Given the description of an element on the screen output the (x, y) to click on. 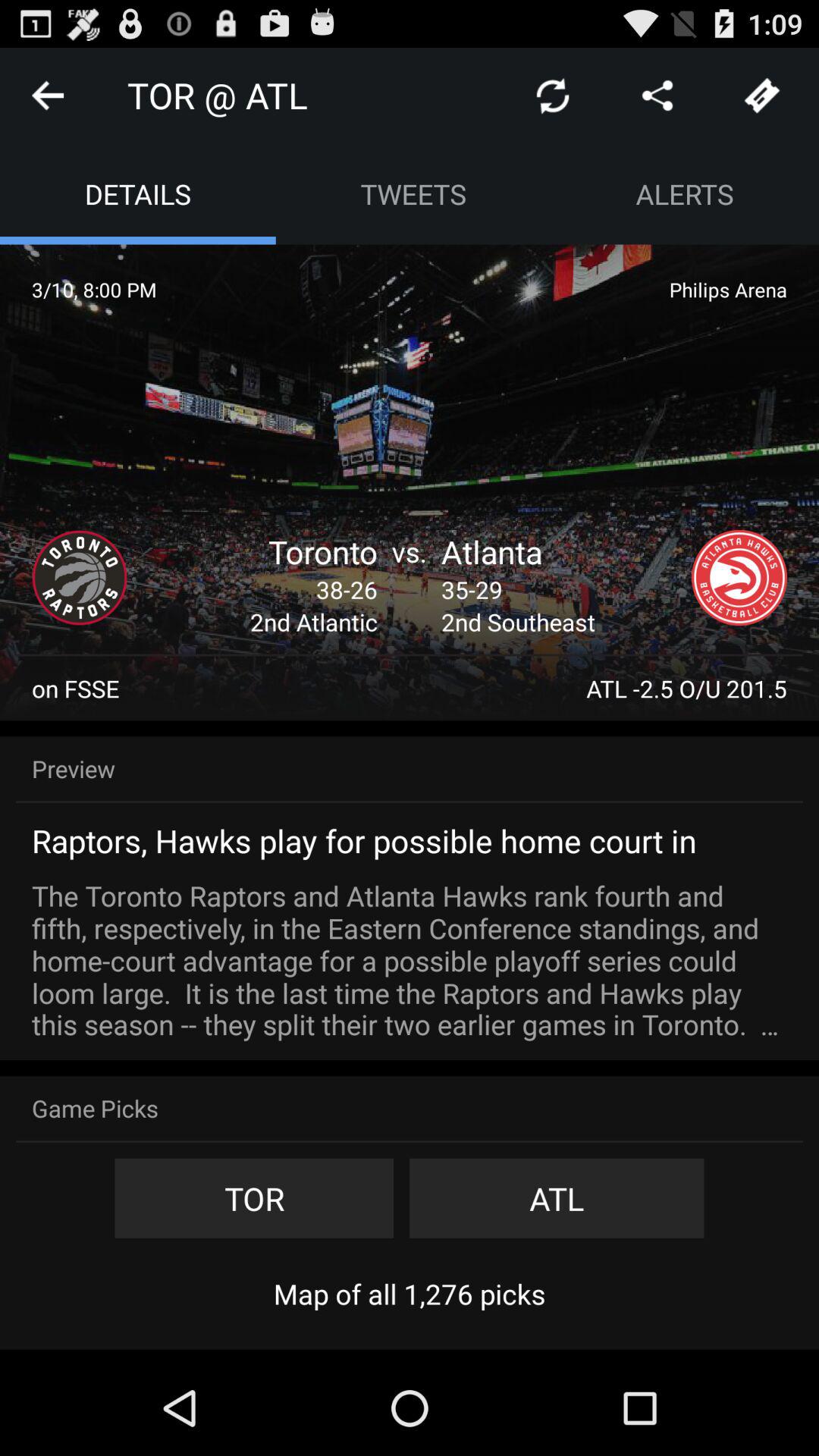
refresh (552, 95)
